Given the description of an element on the screen output the (x, y) to click on. 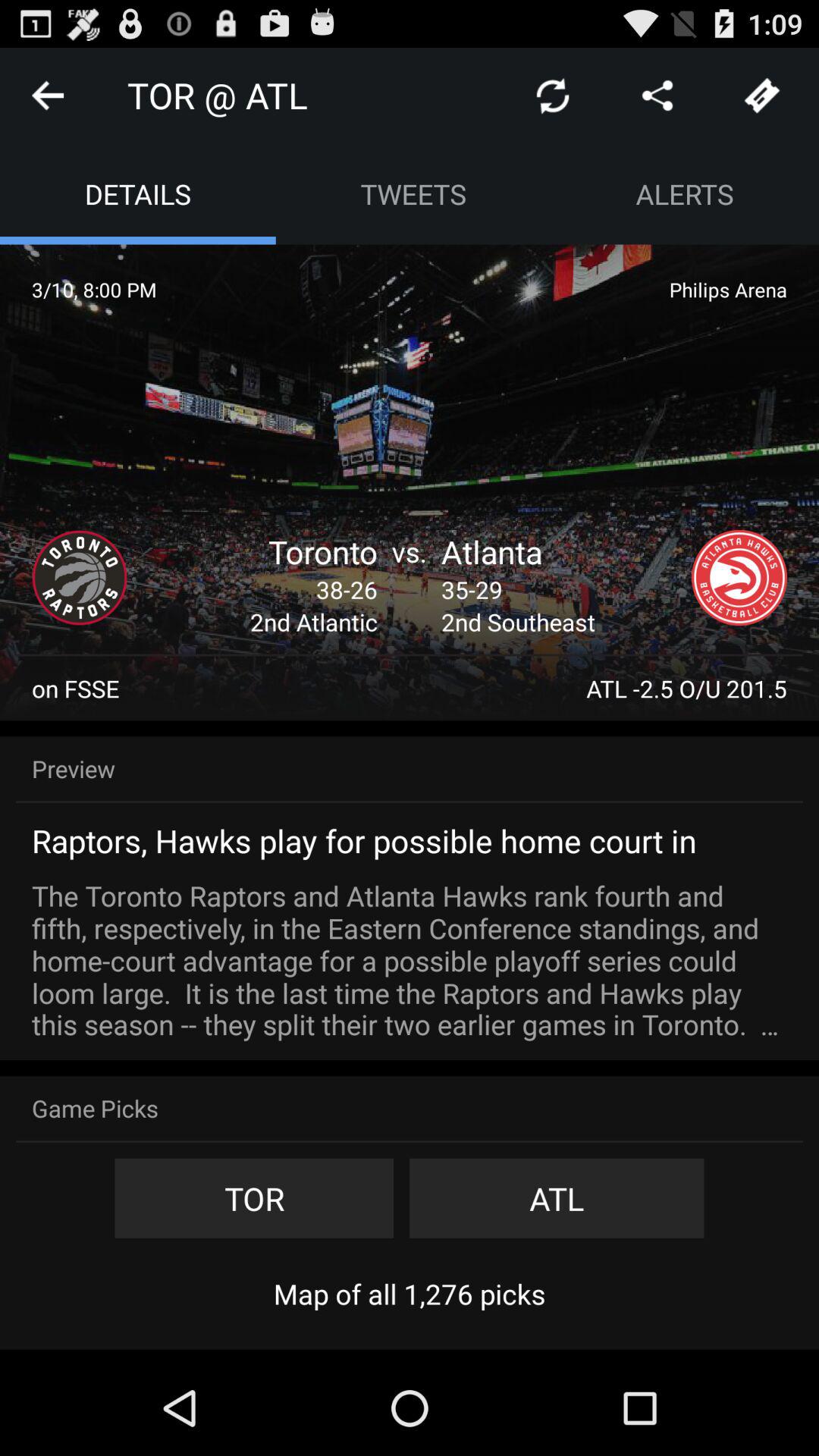
refresh (552, 95)
